Given the description of an element on the screen output the (x, y) to click on. 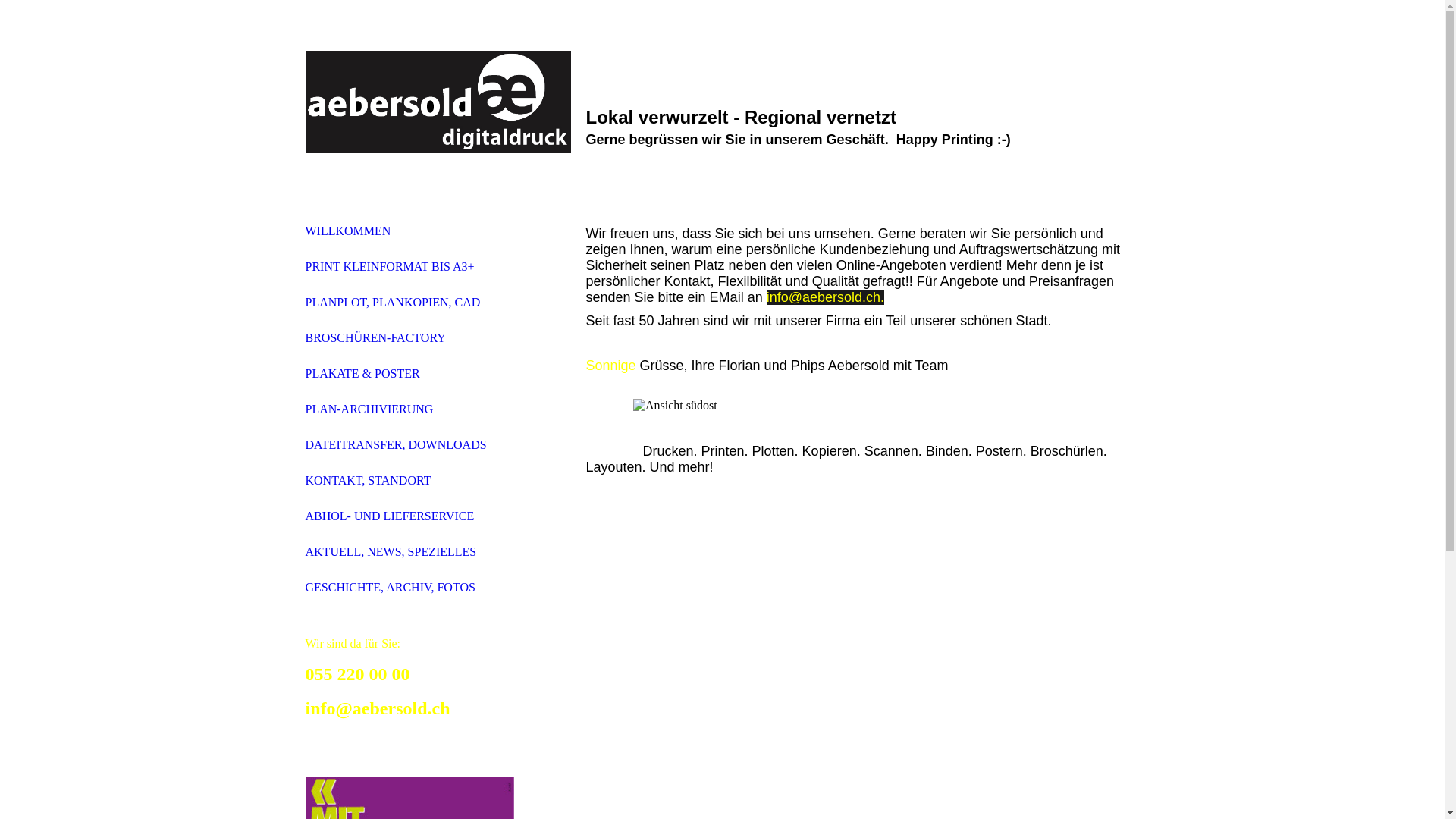
PRINT KLEINFORMAT BIS A3+ Element type: text (388, 266)
ABHOL- UND LIEFERSERVICE Element type: text (388, 515)
WILLKOMMEN Element type: text (347, 230)
PLAN-ARCHIVIERUNG Element type: text (368, 408)
GESCHICHTE, ARCHIV, FOTOS Element type: text (389, 586)
DATEITRANSFER, DOWNLOADS Element type: text (395, 444)
PLAKATE & POSTER Element type: text (361, 373)
AKTUELL, NEWS, SPEZIELLES Element type: text (390, 551)
KONTAKT, STANDORT Element type: text (367, 479)
PLANPLOT, PLANKOPIEN, CAD Element type: text (392, 301)
